Given the description of an element on the screen output the (x, y) to click on. 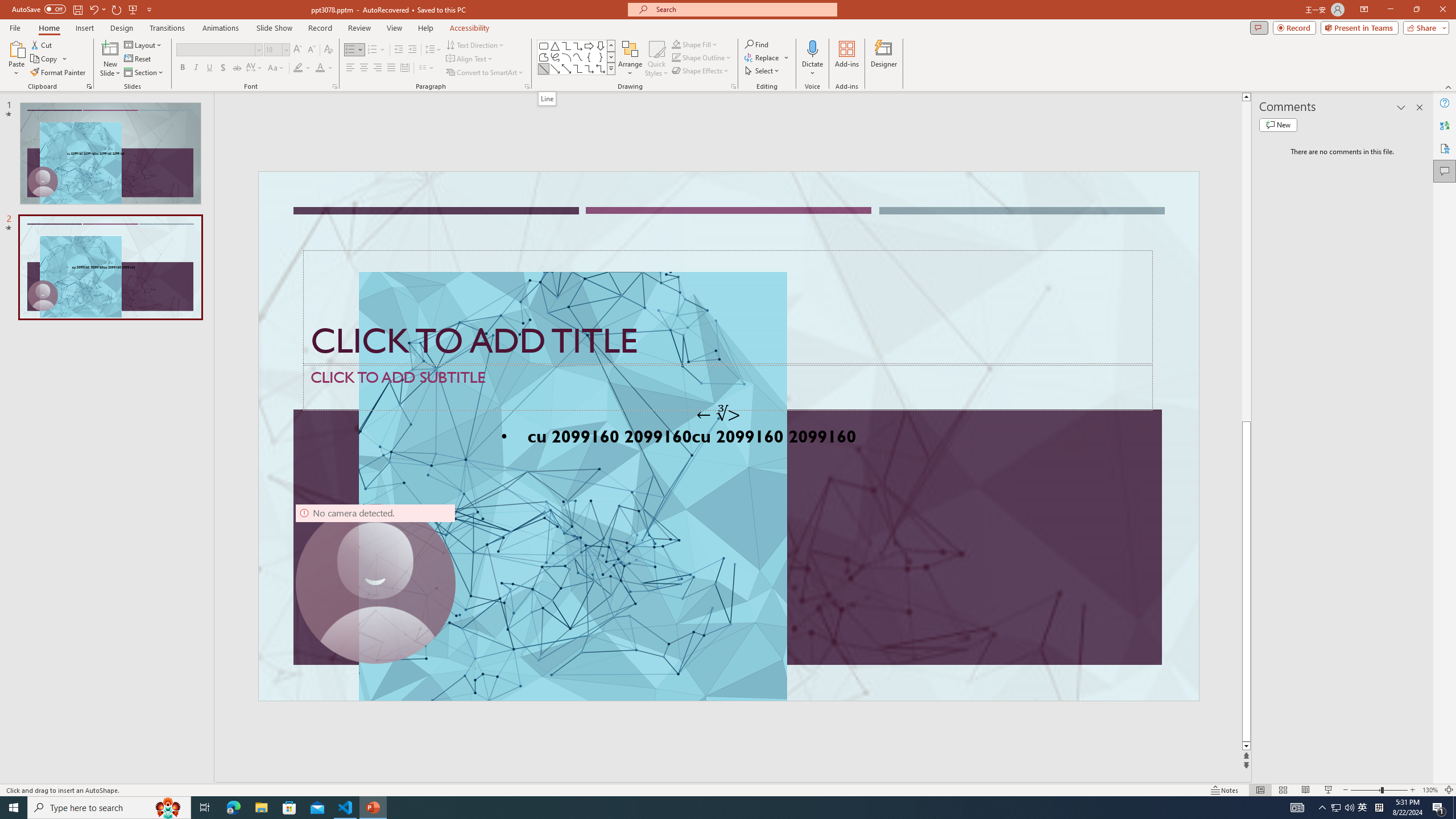
TextBox 7 (718, 414)
Freeform: Scribble (554, 57)
Connector: Elbow Double-Arrow (600, 68)
Normal (1260, 790)
Comments (1259, 27)
Camera 9, No camera detected. (374, 584)
Decrease Indent (398, 49)
Collapse the Ribbon (1448, 86)
Reading View (1305, 790)
Zoom (1379, 790)
Close (1442, 9)
Left Brace (589, 57)
Freeform: Shape (543, 57)
Title TextBox (727, 308)
